Given the description of an element on the screen output the (x, y) to click on. 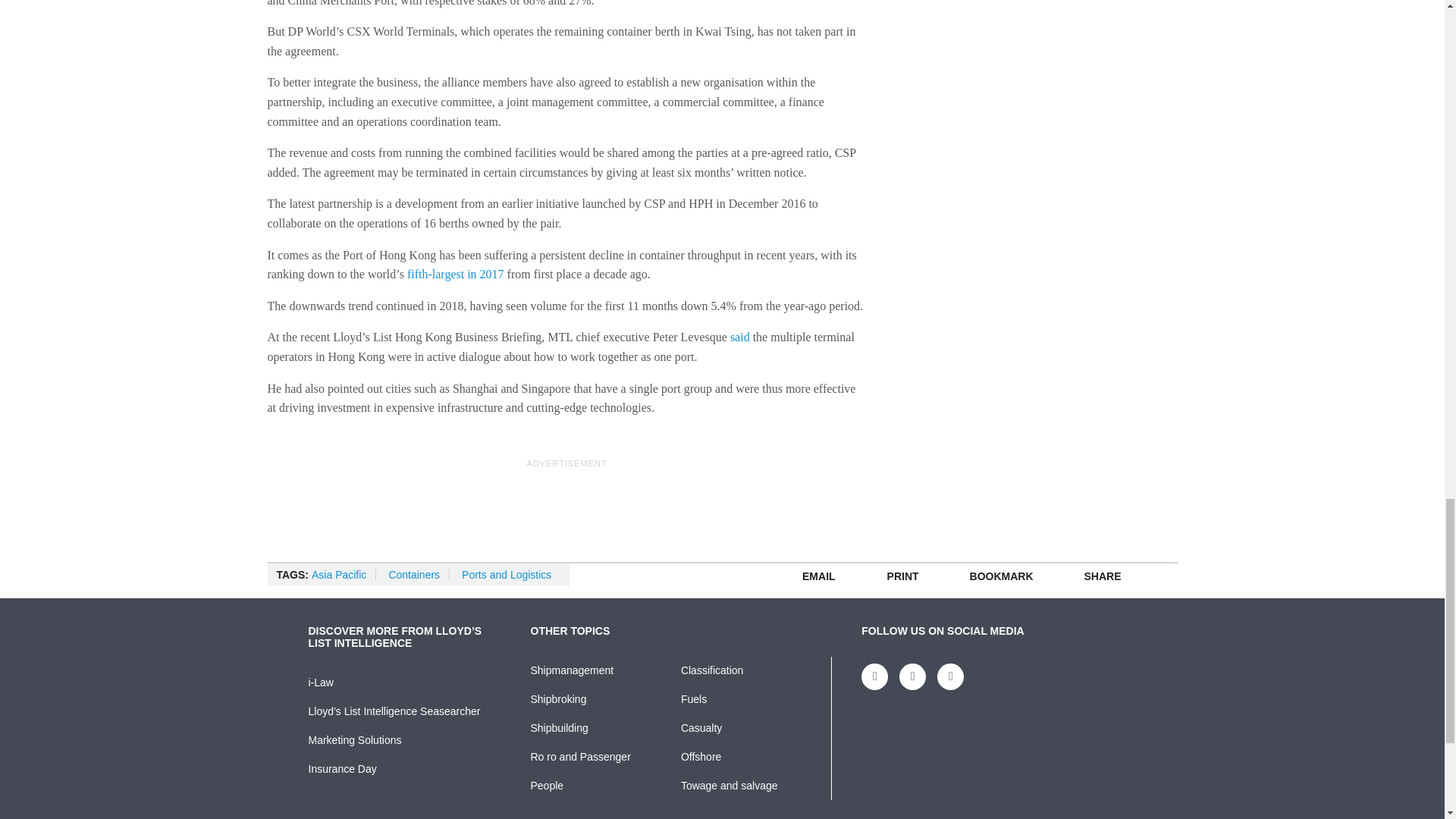
3rd party ad content (567, 504)
